Given the description of an element on the screen output the (x, y) to click on. 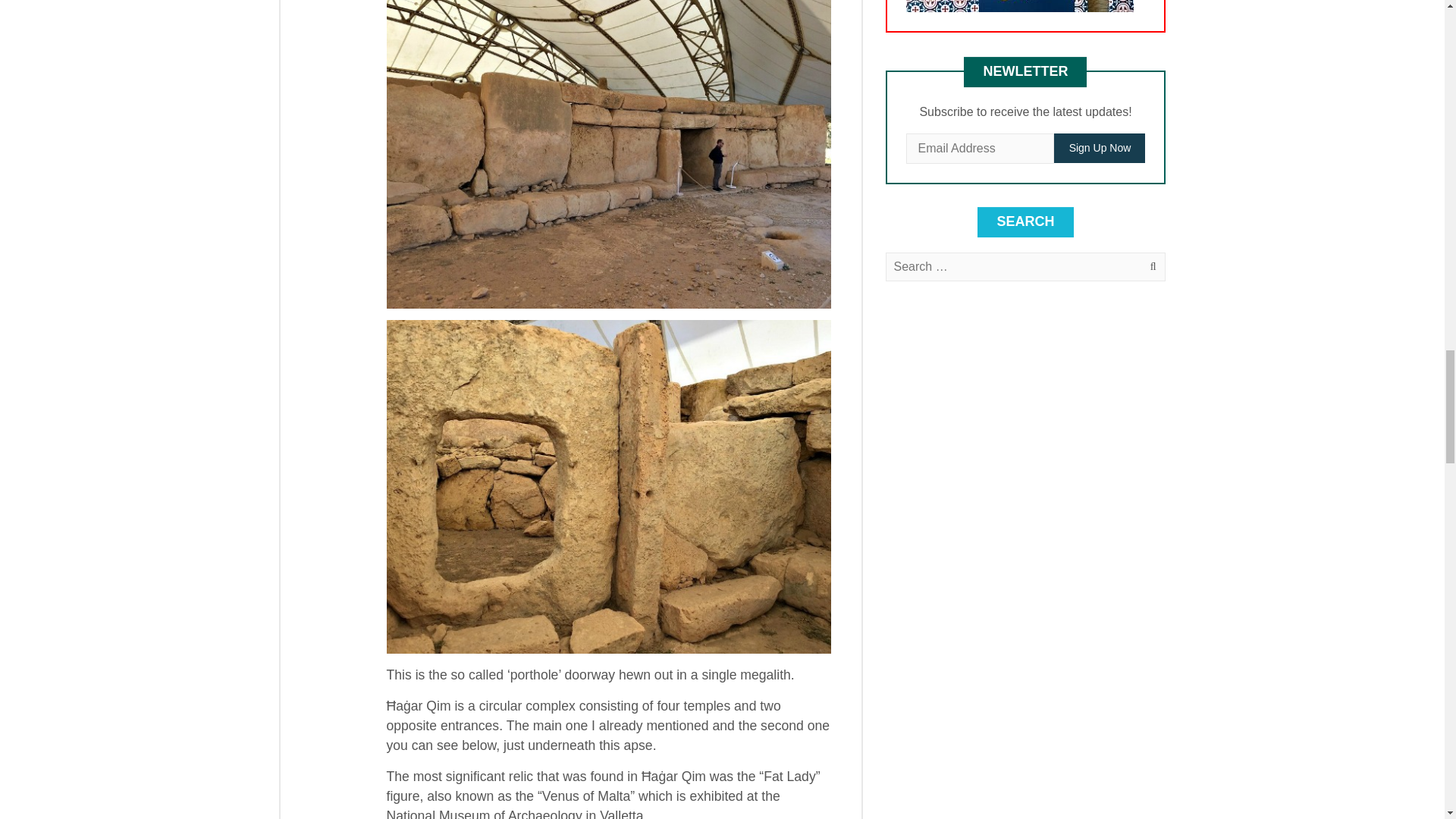
Sign Up Now (1099, 147)
